Given the description of an element on the screen output the (x, y) to click on. 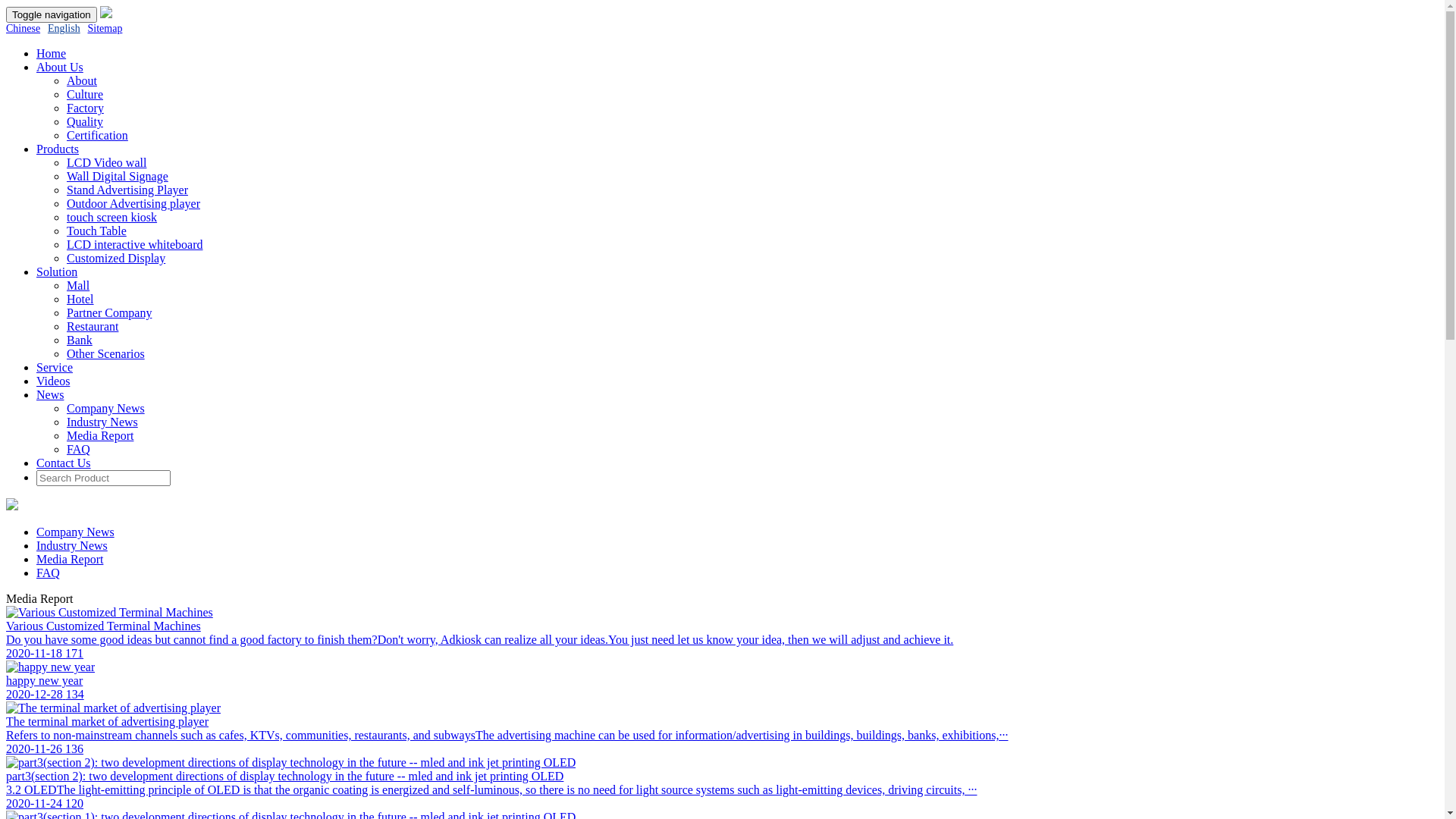
Media Report Element type: text (69, 558)
Videos Element type: text (52, 380)
Stand Advertising Player Element type: text (127, 189)
Service Element type: text (54, 366)
Culture Element type: text (84, 93)
Hotel Element type: text (80, 298)
Home Element type: text (50, 53)
Customized Display Element type: text (115, 257)
LCD interactive whiteboard Element type: text (134, 244)
Products Element type: text (57, 148)
Other Scenarios Element type: text (105, 353)
Partner Company Element type: text (108, 312)
touch screen kiosk Element type: text (111, 216)
Media Report Element type: text (99, 435)
News Element type: text (49, 394)
Touch Table Element type: text (96, 230)
Toggle navigation Element type: text (51, 14)
FAQ Element type: text (47, 572)
Solution Element type: text (56, 271)
Sitemap Element type: text (104, 28)
Company News Element type: text (105, 407)
About Element type: text (81, 80)
FAQ Element type: text (78, 448)
LCD Video wall Element type: text (106, 162)
Factory Element type: text (84, 107)
Wall Digital Signage Element type: text (117, 175)
Company News Element type: text (75, 531)
Industry News Element type: text (71, 545)
Chinese Element type: text (23, 28)
Restaurant Element type: text (92, 326)
English Element type: text (63, 28)
Quality Element type: text (84, 121)
Contact Us Element type: text (63, 462)
Certification Element type: text (97, 134)
Outdoor Advertising player Element type: text (133, 203)
Bank Element type: text (79, 339)
Mall Element type: text (77, 285)
happy new year
2020-12-28 134 Element type: text (722, 680)
About Us Element type: text (59, 66)
Industry News Element type: text (102, 421)
